Given the description of an element on the screen output the (x, y) to click on. 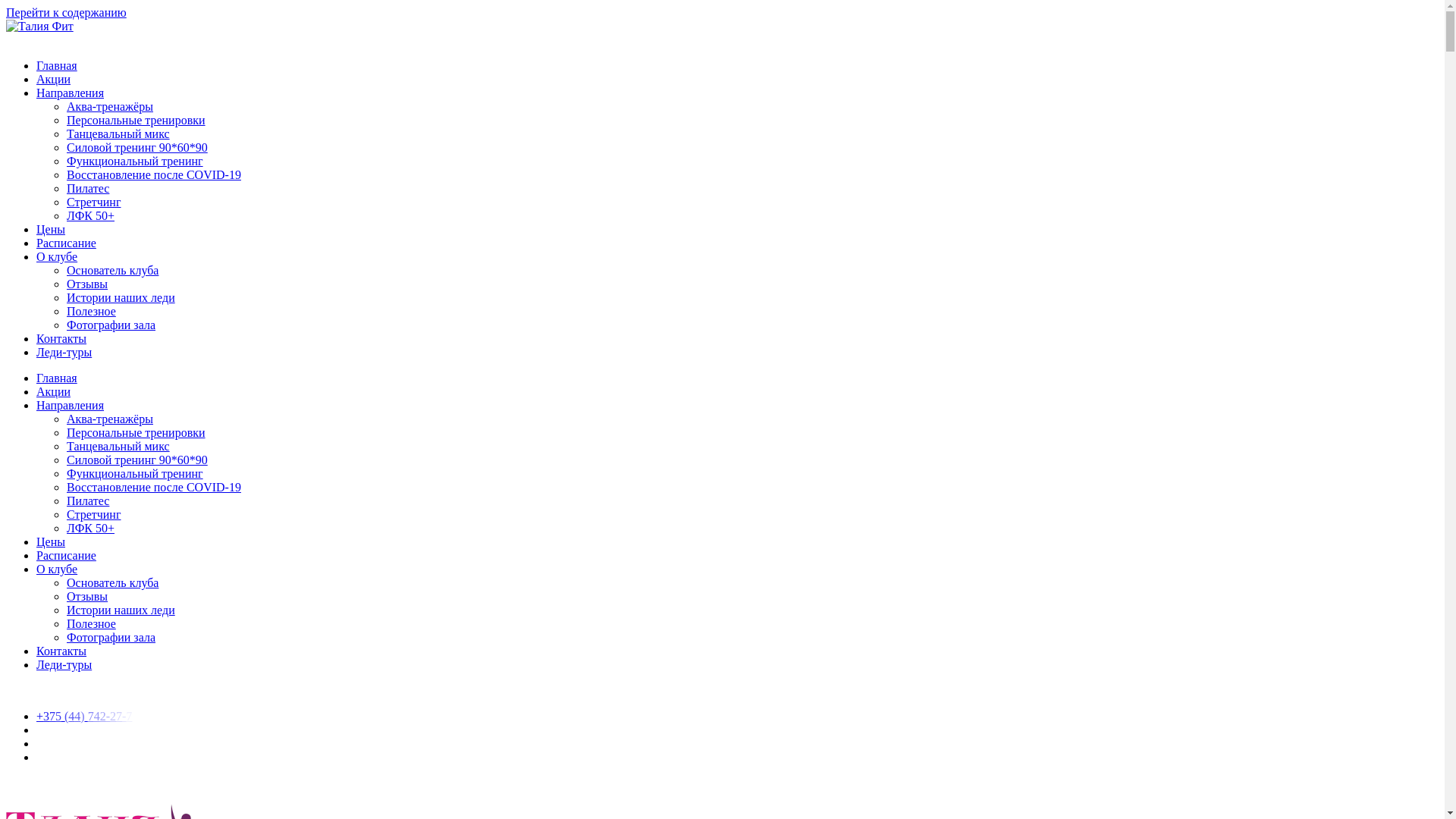
+375 (44) 742-27-7 Element type: text (87, 715)
